Given the description of an element on the screen output the (x, y) to click on. 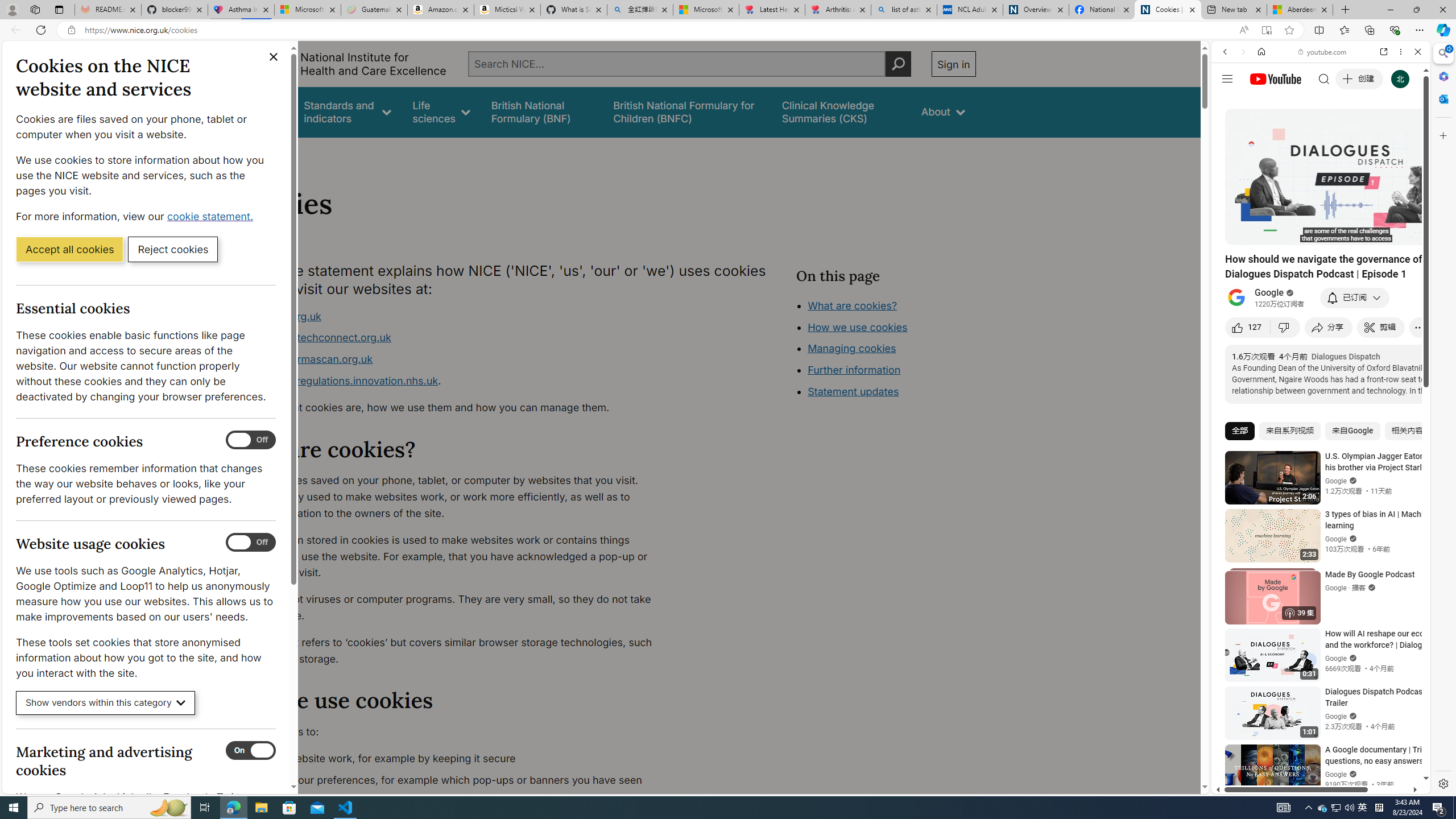
make our website work, for example by keeping it secure (452, 759)
YouTube - YouTube (1315, 560)
Class: dict_pnIcon rms_img (1312, 784)
